Given the description of an element on the screen output the (x, y) to click on. 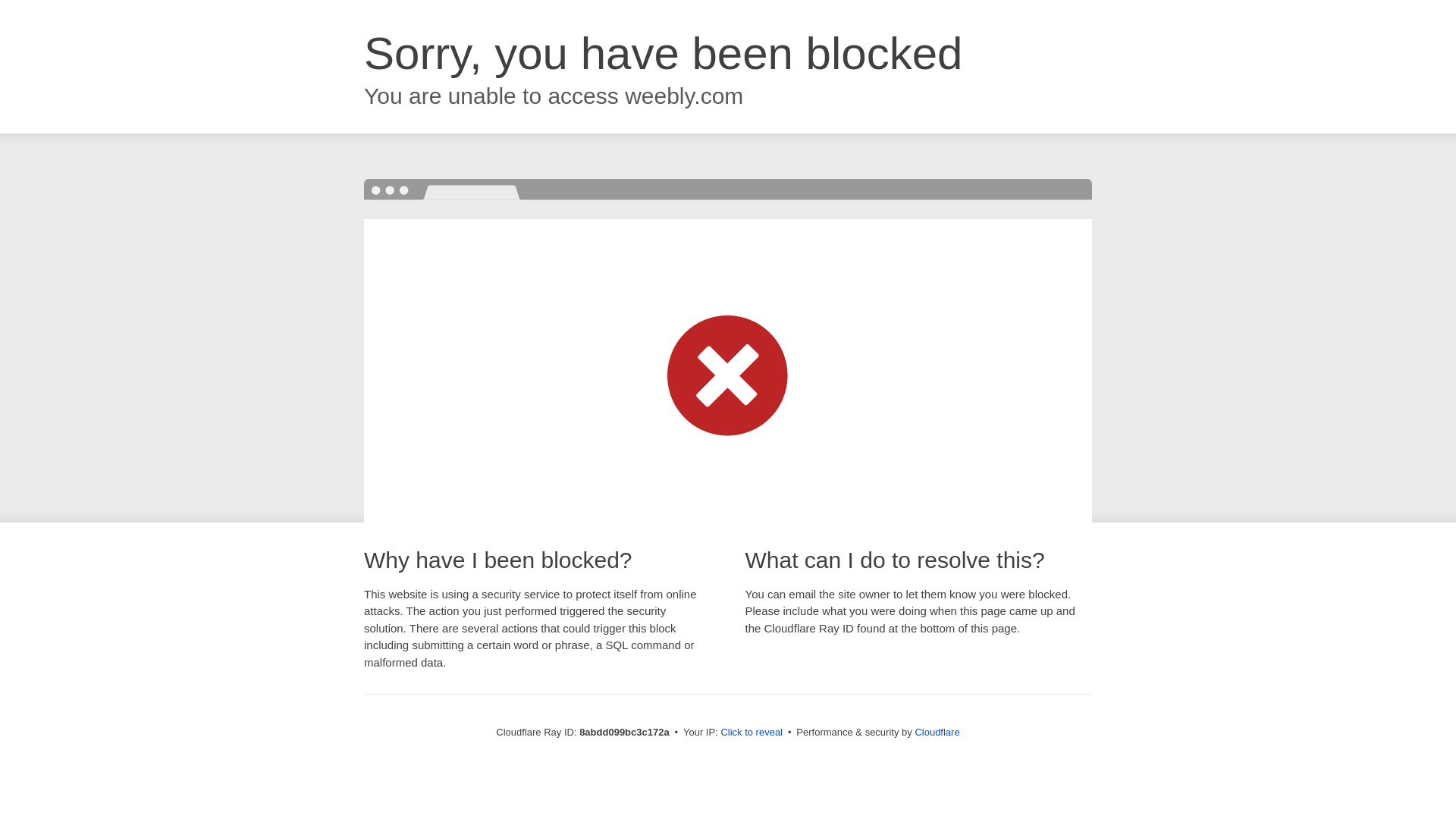
Click to reveal (751, 732)
Cloudflare (936, 731)
